Given the description of an element on the screen output the (x, y) to click on. 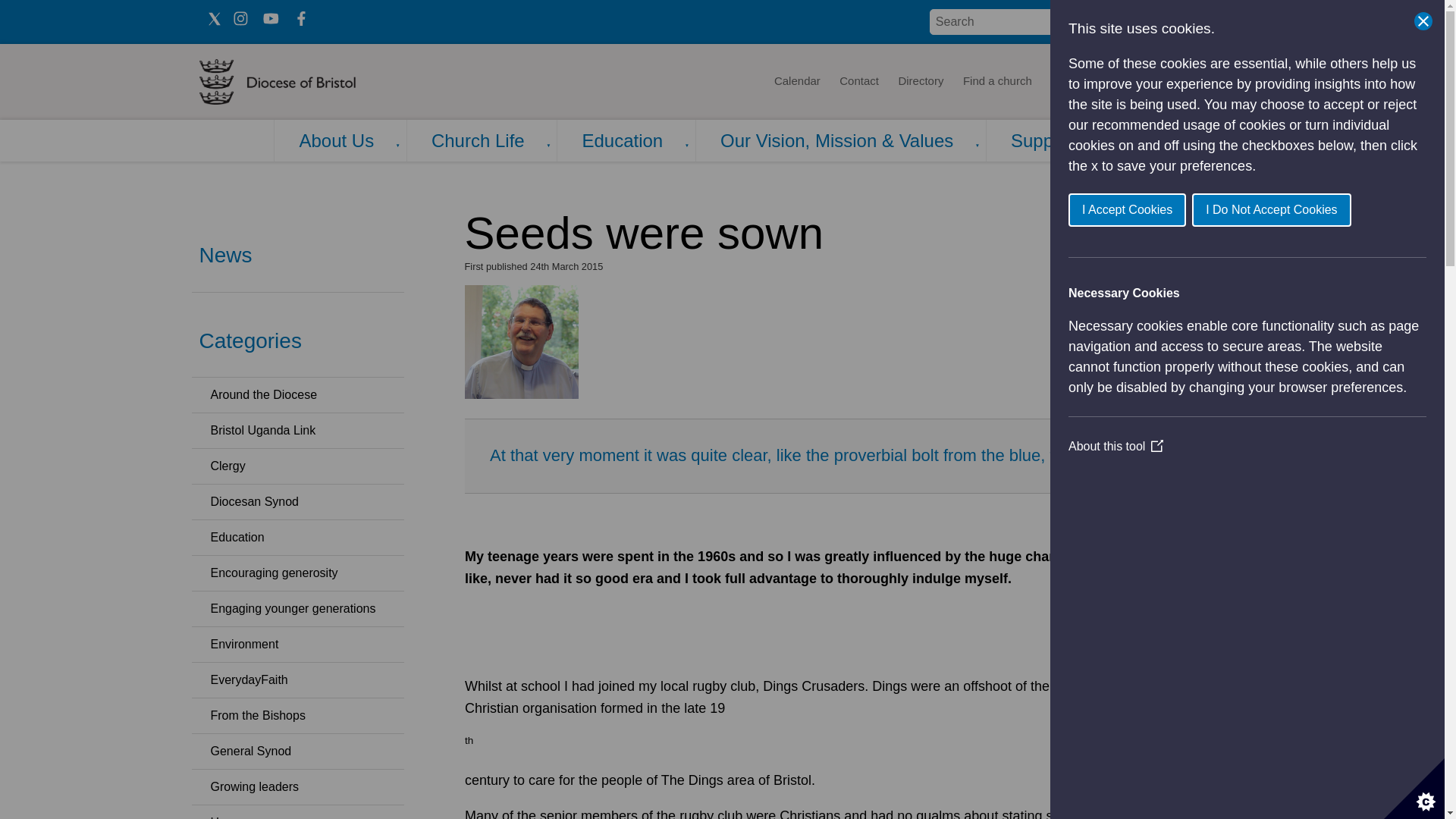
Directory (920, 81)
Logo (323, 81)
News (1064, 81)
Safeguarding (1203, 81)
Vacancies (1124, 81)
